Given the description of an element on the screen output the (x, y) to click on. 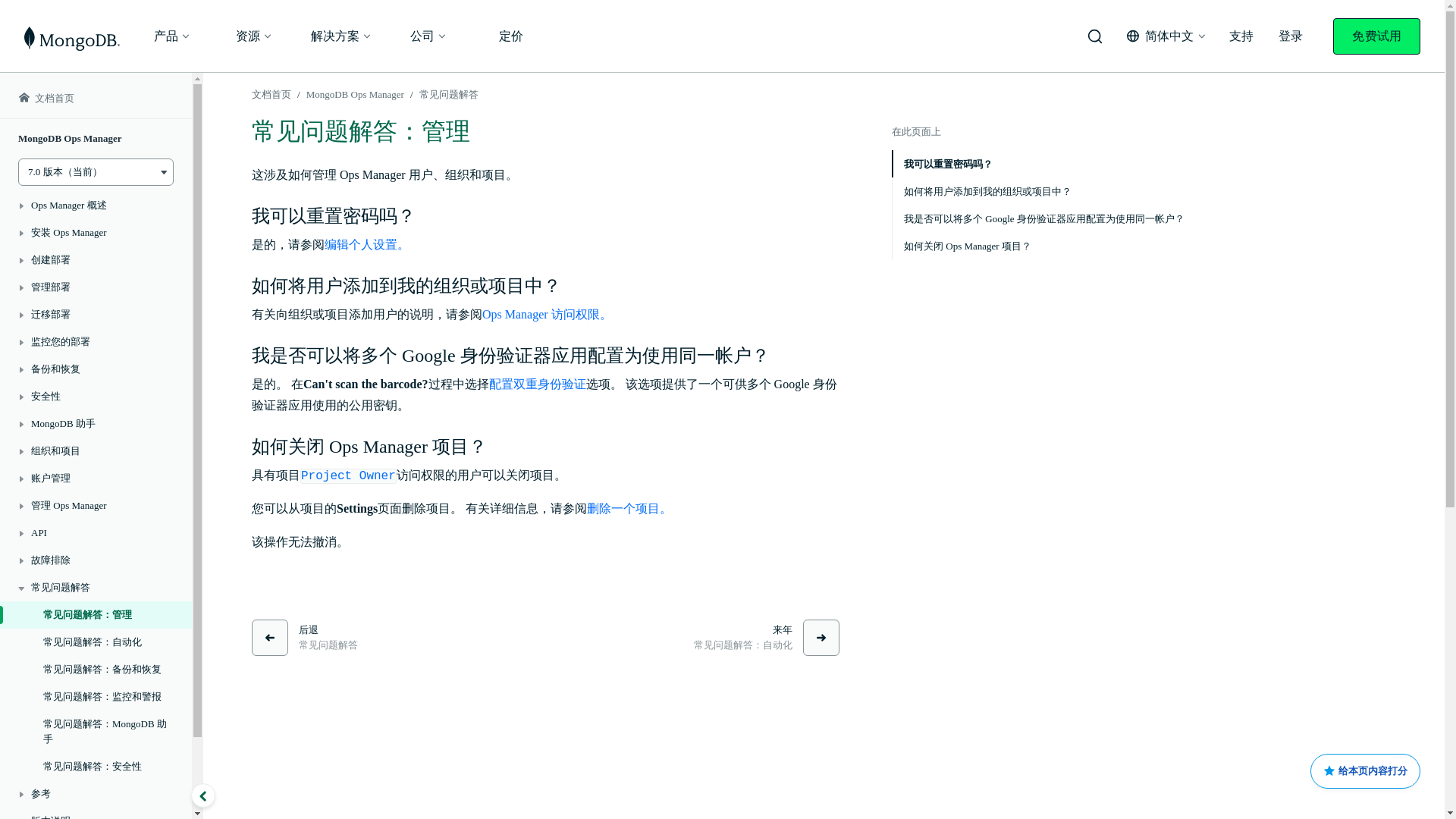
Next Section (767, 637)
Previous Section (304, 637)
